Given the description of an element on the screen output the (x, y) to click on. 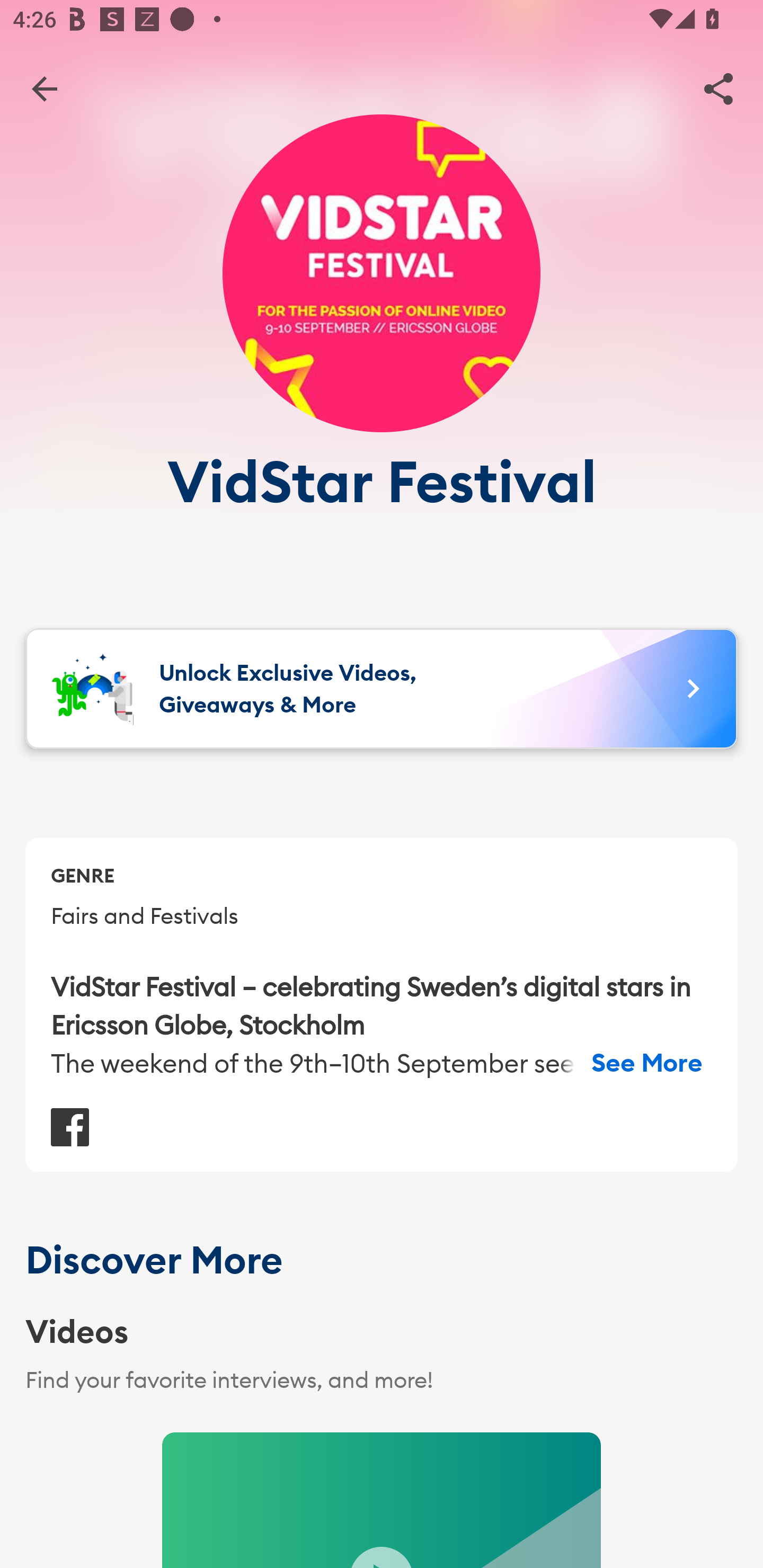
BackButton (44, 88)
Share (718, 88)
Unlock Exclusive Videos,
Giveaways & More (381, 688)
See More (646, 1062)
